Given the description of an element on the screen output the (x, y) to click on. 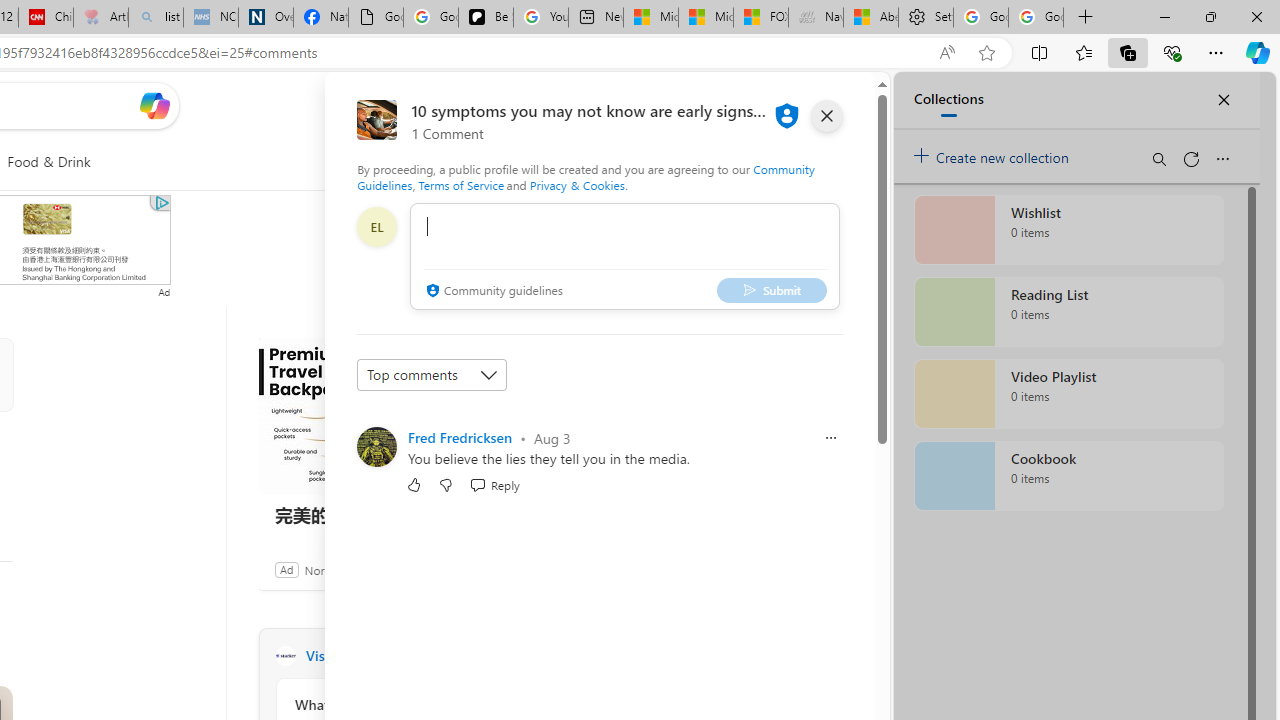
Profile Picture (376, 446)
To get missing image descriptions, open the context menu. (471, 162)
Submit (771, 290)
Microsoft rewards (749, 105)
Ad Choice (535, 569)
Report comment (831, 437)
Food & Drink (48, 162)
Class: qc-adchoices-link top-right  (160, 202)
